Given the description of an element on the screen output the (x, y) to click on. 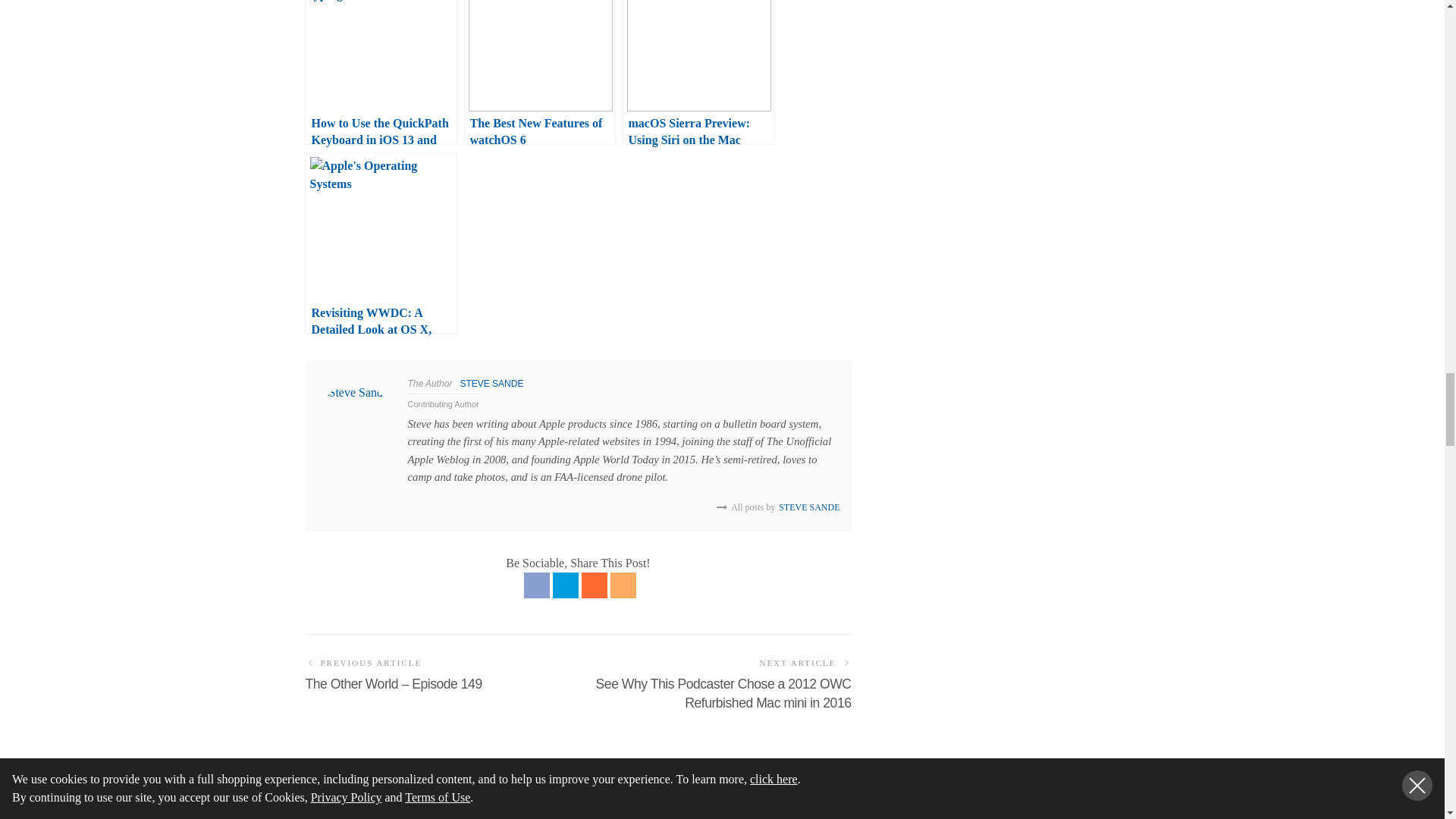
macOS Sierra Preview: Using Siri on the Mac (697, 72)
How to Use the QuickPath Keyboard in iOS 13 and iPadOS 13 (380, 72)
The Best New Features of watchOS 6 (539, 72)
